Given the description of an element on the screen output the (x, y) to click on. 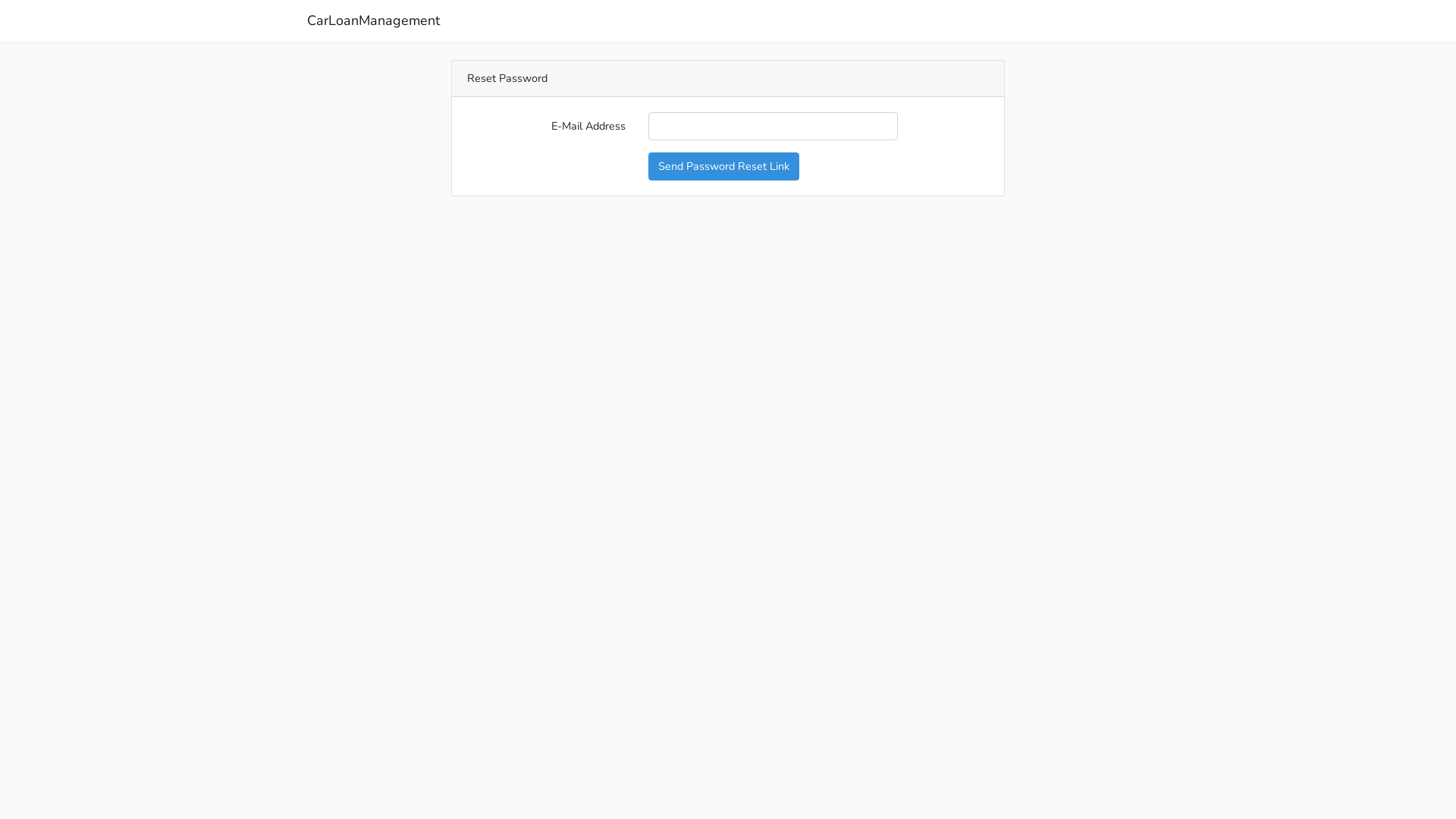
Send Password Reset Link Element type: text (723, 166)
CarLoanManagement Element type: text (373, 20)
